Given the description of an element on the screen output the (x, y) to click on. 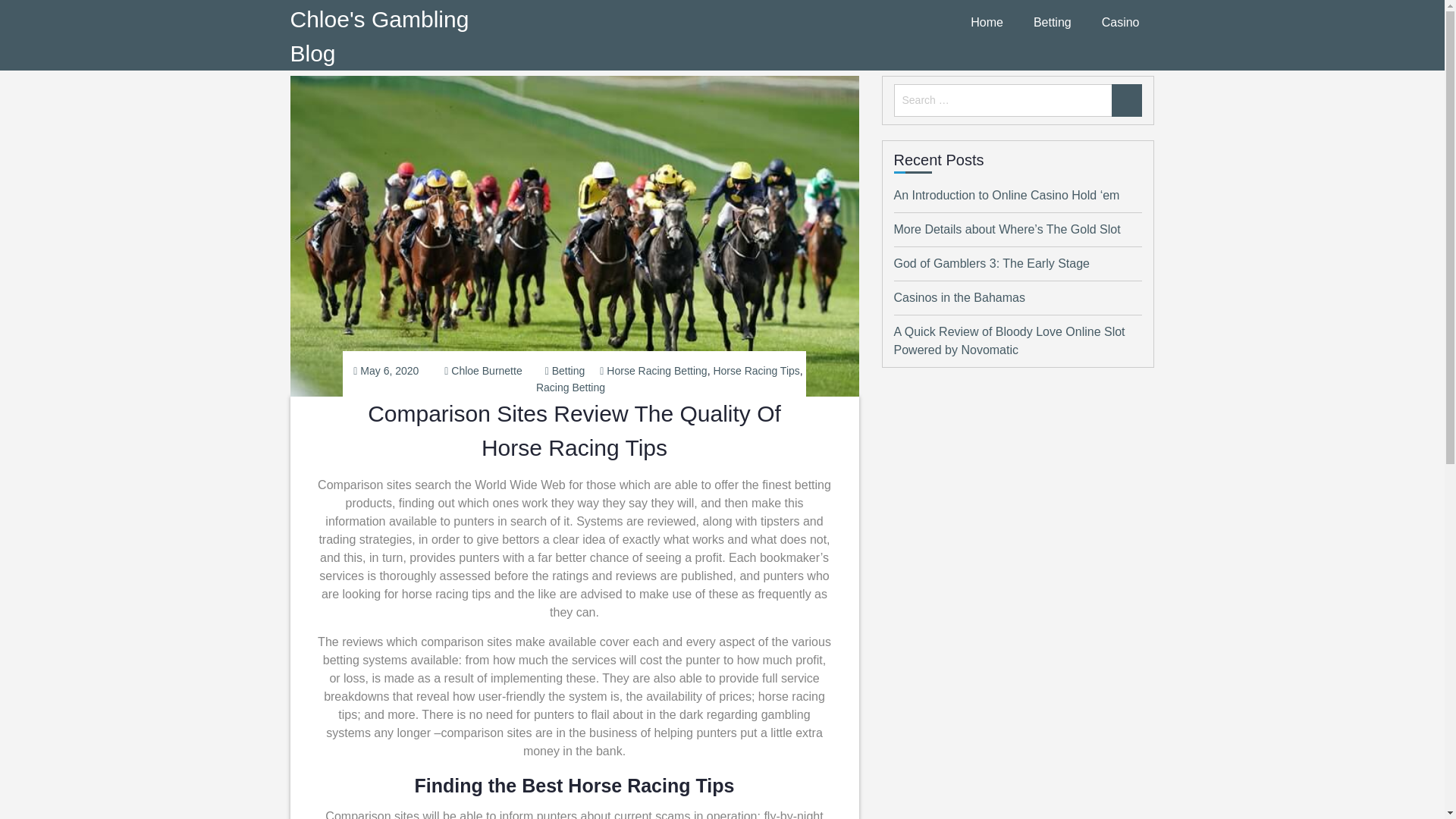
Horse Racing Betting (656, 370)
God of Gamblers 3: The Early Stage (991, 263)
May 6, 2020 (389, 370)
Horse Racing Tips (756, 370)
Search (1126, 100)
Casinos in the Bahamas (959, 297)
Search (1126, 100)
Search (1126, 100)
Chloe's Gambling Blog (378, 36)
